Given the description of an element on the screen output the (x, y) to click on. 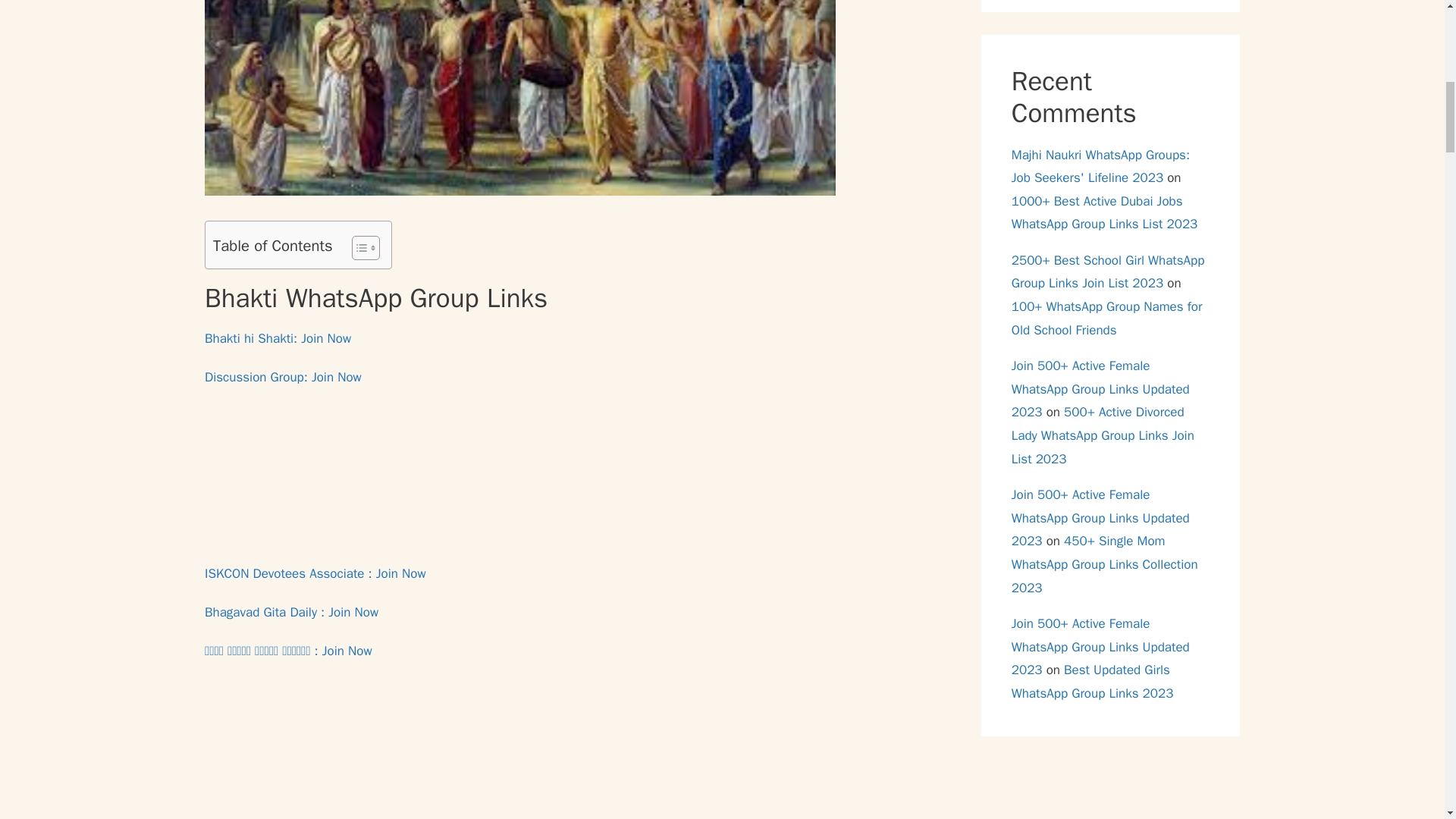
Bhagavad Gita Daily : Join Now (291, 611)
Discussion Group: Join Now (283, 376)
Bhakti hi Shakti: Join Now (277, 338)
ISKCON Devotees Associate : Join Now (315, 573)
